Given the description of an element on the screen output the (x, y) to click on. 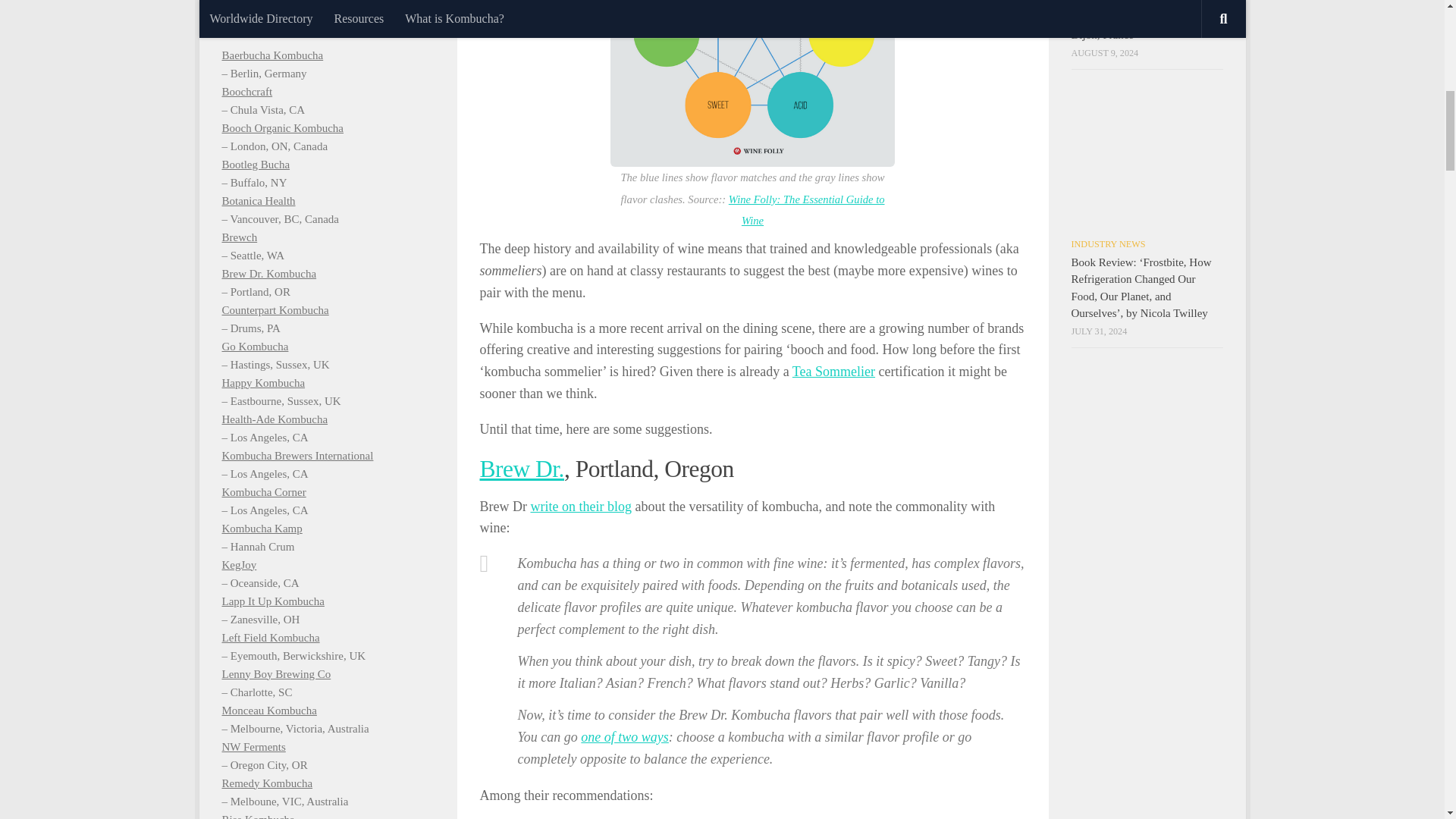
Wine Folly: The Essential Guide to Wine (807, 210)
Brew Dr. (521, 468)
write on their blog (579, 506)
one of two ways (624, 736)
Tea Sommelier (833, 371)
